Given the description of an element on the screen output the (x, y) to click on. 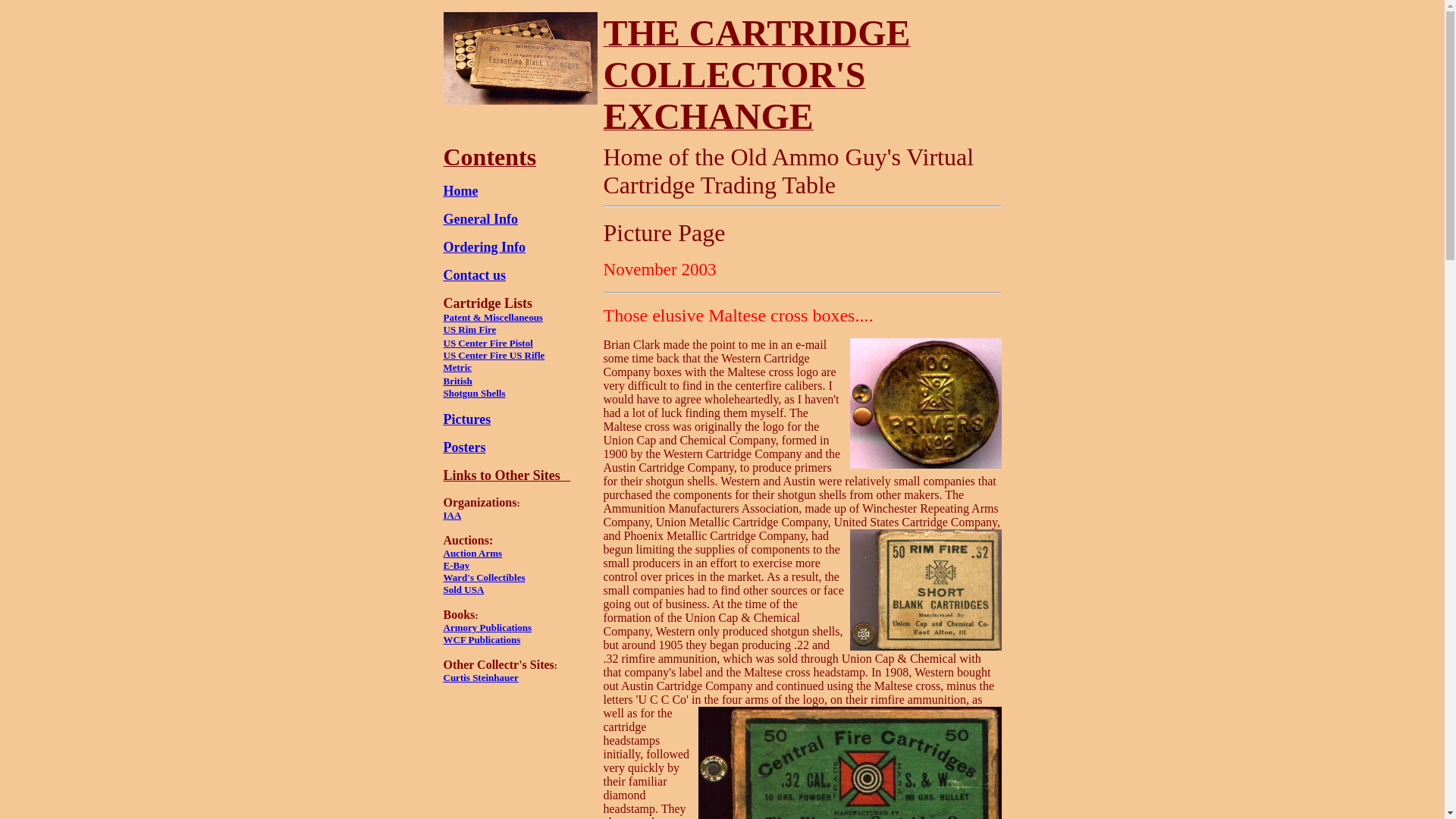
IAA (451, 513)
Armory Publications (486, 627)
Contact us (473, 274)
Ordering Info (483, 246)
Home (459, 191)
E-Bay (455, 564)
US Rim Fire (469, 328)
Auction Arms (472, 552)
Curtis Steinhauer (480, 677)
General Info (480, 218)
Posters (463, 447)
Metric (456, 367)
Shotgun Shells (473, 392)
Ward's Collectibles (483, 577)
British (456, 380)
